Given the description of an element on the screen output the (x, y) to click on. 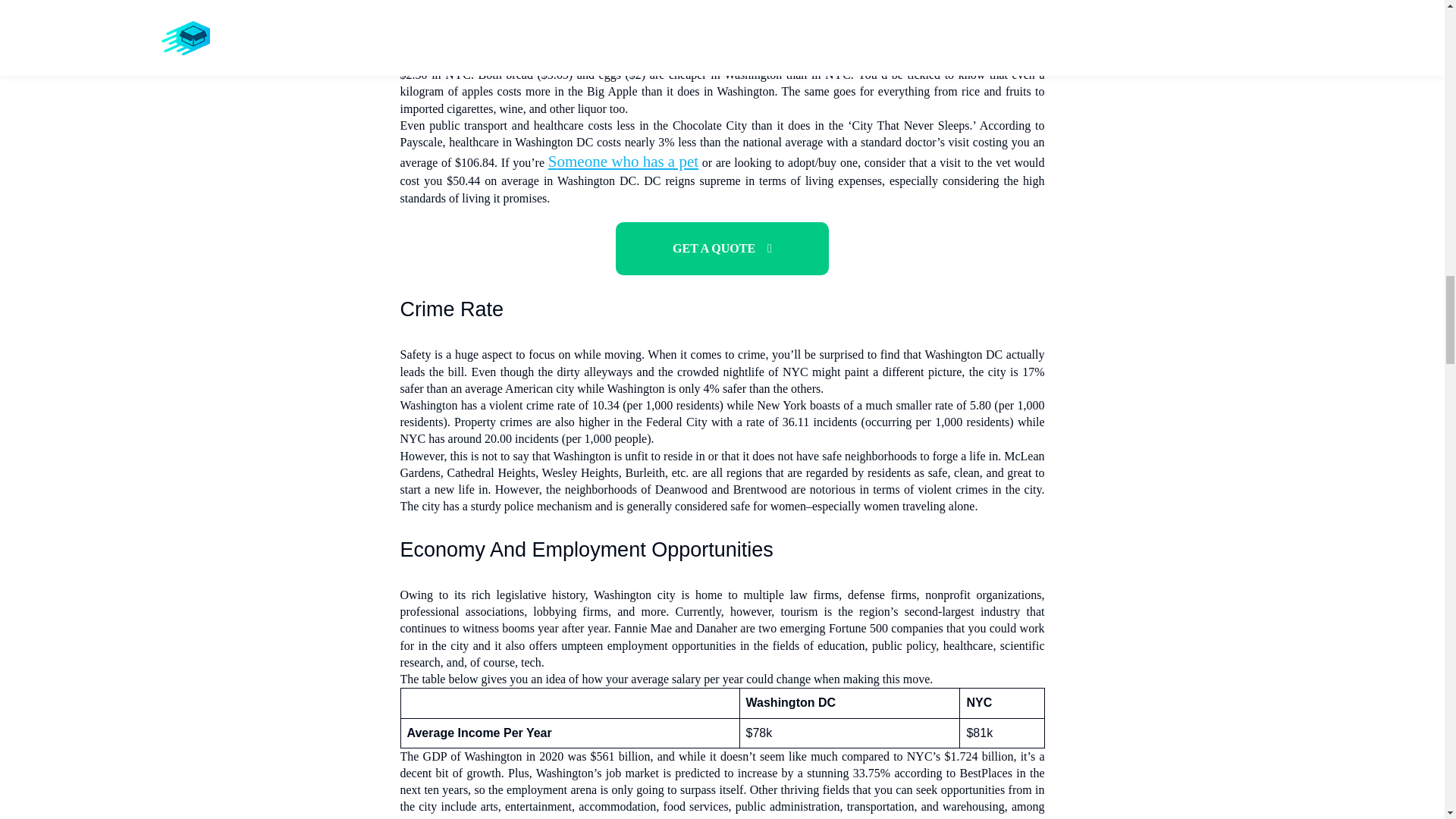
someone who has a pet (623, 161)
GET A QUOTE (721, 248)
